Given the description of an element on the screen output the (x, y) to click on. 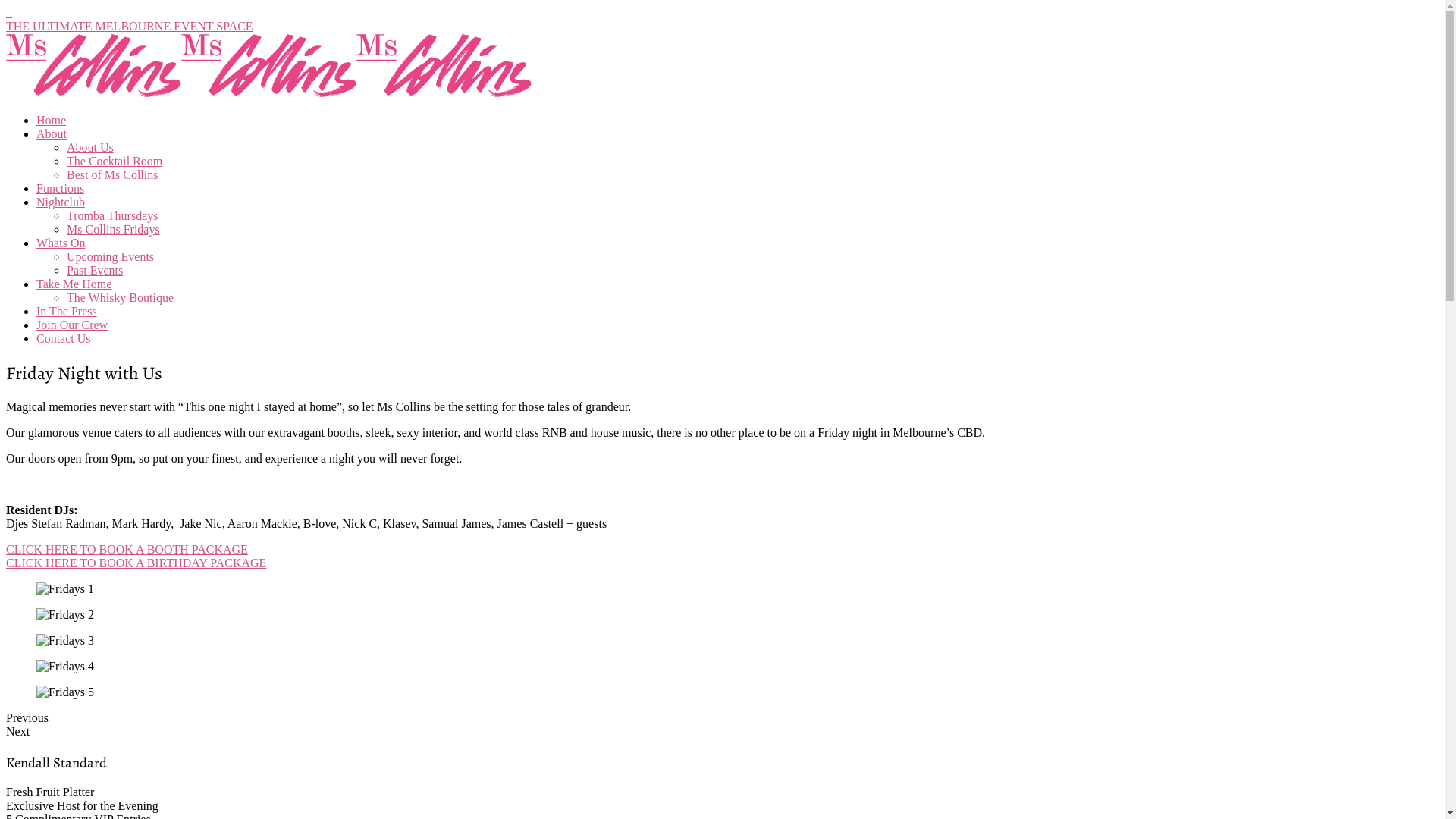
Whats On Element type: text (60, 242)
Take Me Home Element type: text (73, 283)
Home Element type: text (50, 119)
CLICK HERE TO BOOK A BIRTHDAY PACKAGE Element type: text (136, 562)
Ms Collins Element type: hover (443, 93)
Nightclub Element type: text (60, 201)
The Whisky Boutique Element type: text (119, 297)
Best of Ms Collins Element type: text (111, 174)
About Element type: text (51, 133)
THE ULTIMATE MELBOURNE EVENT SPACE Element type: text (129, 25)
Ms Collins Fridays Element type: text (113, 228)
About Us Element type: text (89, 147)
Join Our Crew Element type: text (71, 324)
The Cocktail Room Element type: text (114, 160)
Ms Collins Element type: hover (93, 93)
In The Press Element type: text (66, 310)
Tromba Thursdays Element type: text (111, 215)
Functions Element type: text (60, 188)
Contact Us Element type: text (63, 338)
Ms Collins Element type: hover (268, 93)
CLICK HERE TO BOOK A BOOTH PACKAGE Element type: text (126, 548)
Past Events Element type: text (94, 269)
Upcoming Events Element type: text (109, 256)
